Given the description of an element on the screen output the (x, y) to click on. 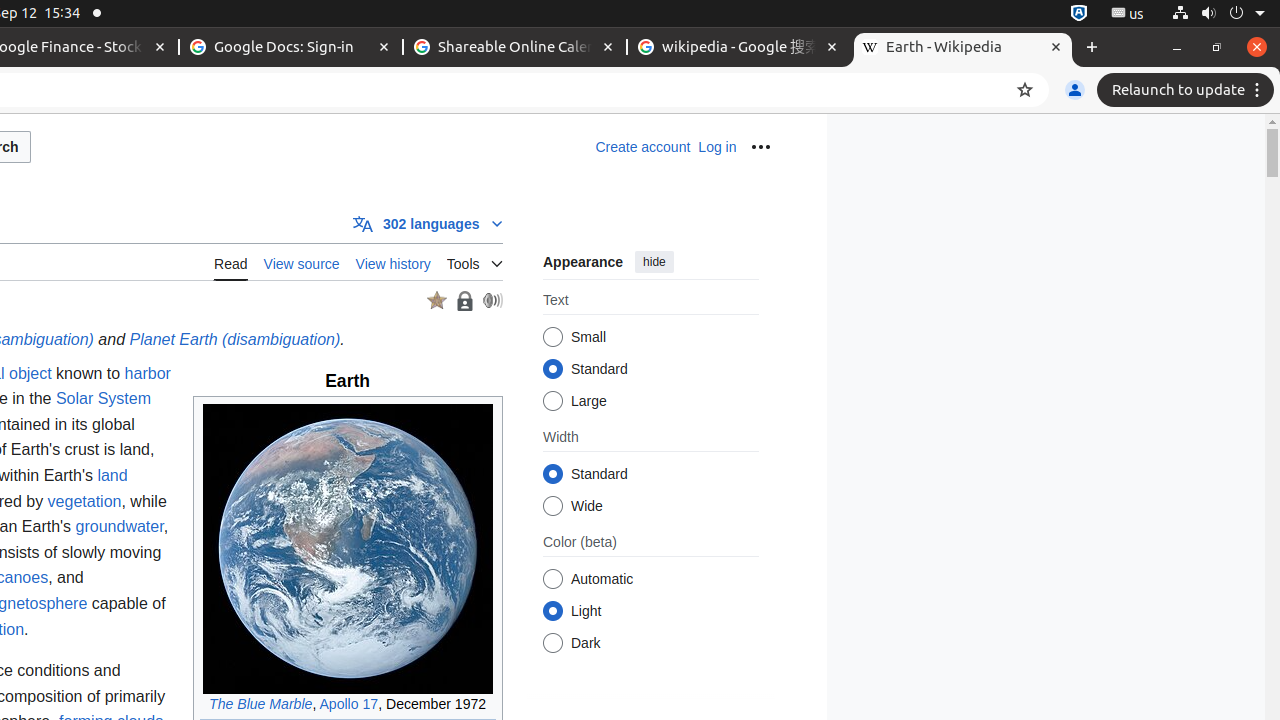
Large Element type: radio-button (552, 401)
Wide Element type: radio-button (552, 506)
Standard Element type: radio-button (552, 474)
Tools Element type: push-button (474, 260)
Photograph of Earth taken by the Apollo 17 mission. The Arabian peninsula, Africa and Madagascar lie in the upper half of the disc, whereas Antarctica is at the bottom. Element type: link (347, 548)
